Given the description of an element on the screen output the (x, y) to click on. 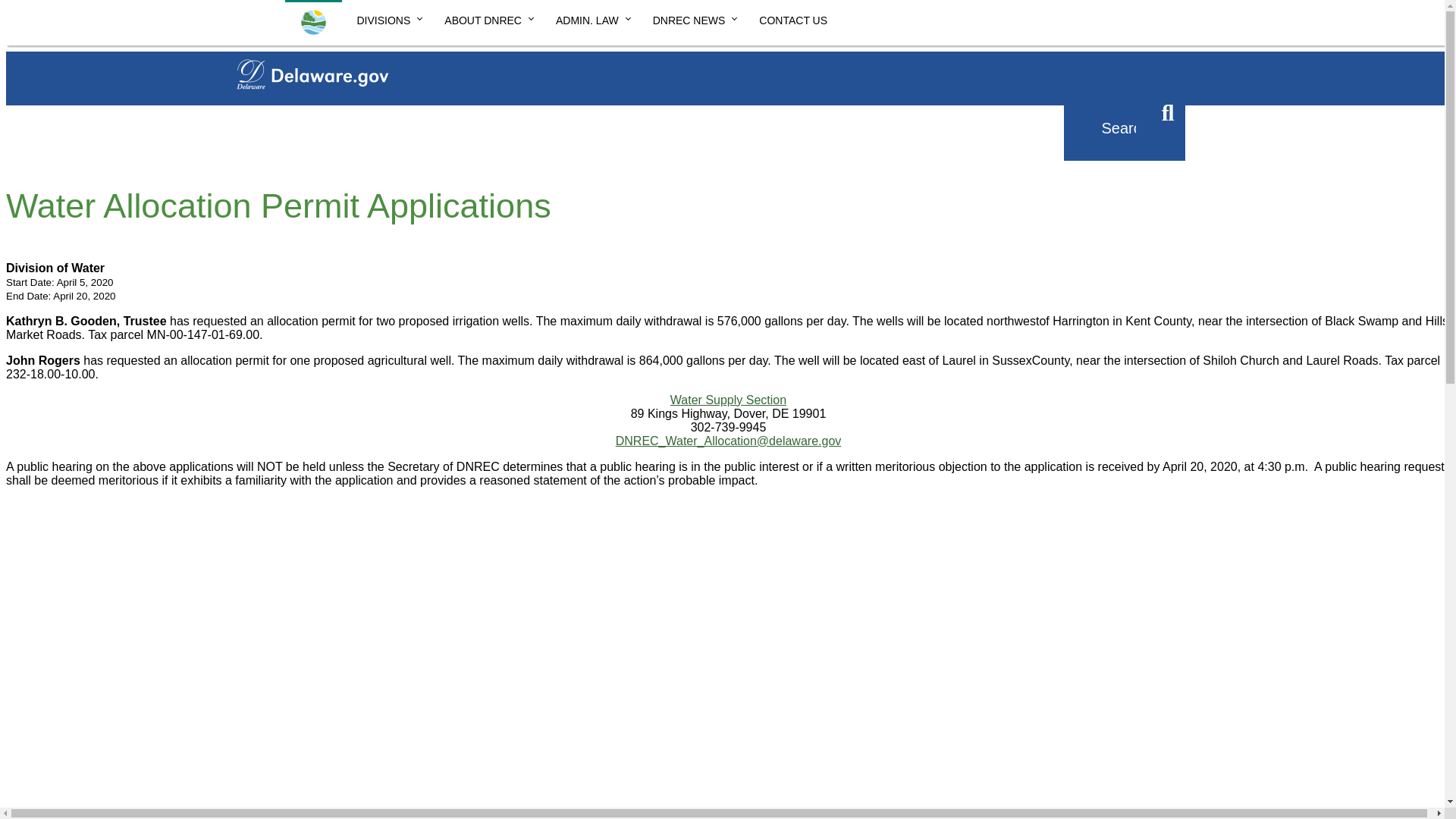
ABOUT DNREC (484, 18)
News (381, 111)
Submit (1168, 114)
Contact (532, 111)
ADMIN. LAW (588, 18)
Topics (453, 111)
DIVISIONS (384, 18)
Agencies (300, 111)
